Given the description of an element on the screen output the (x, y) to click on. 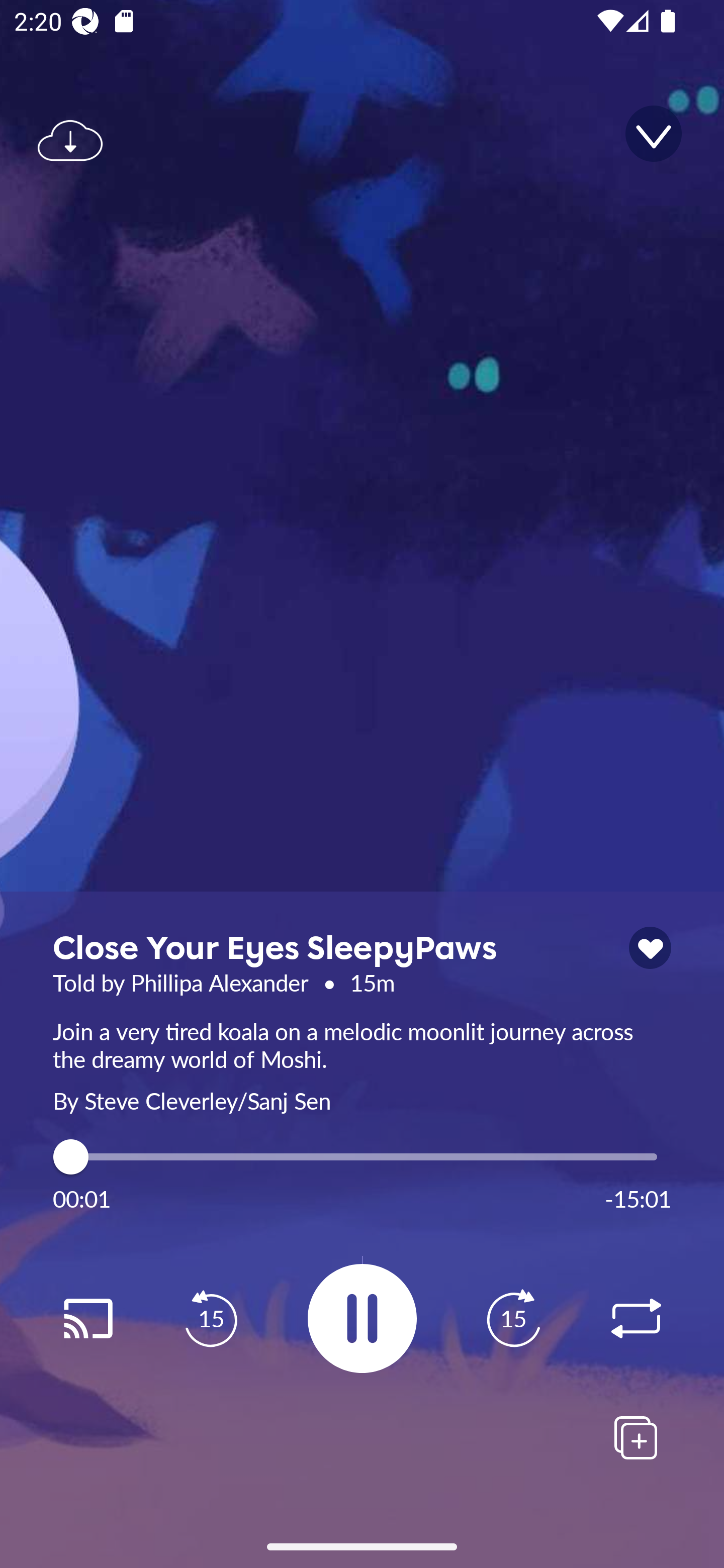
lock icon (650, 947)
0.0011384274 Pause (361, 1317)
Replay (87, 1318)
Replay 15 (210, 1318)
Replay 15 (513, 1318)
Replay (635, 1318)
Add To Playlists (635, 1437)
